Given the description of an element on the screen output the (x, y) to click on. 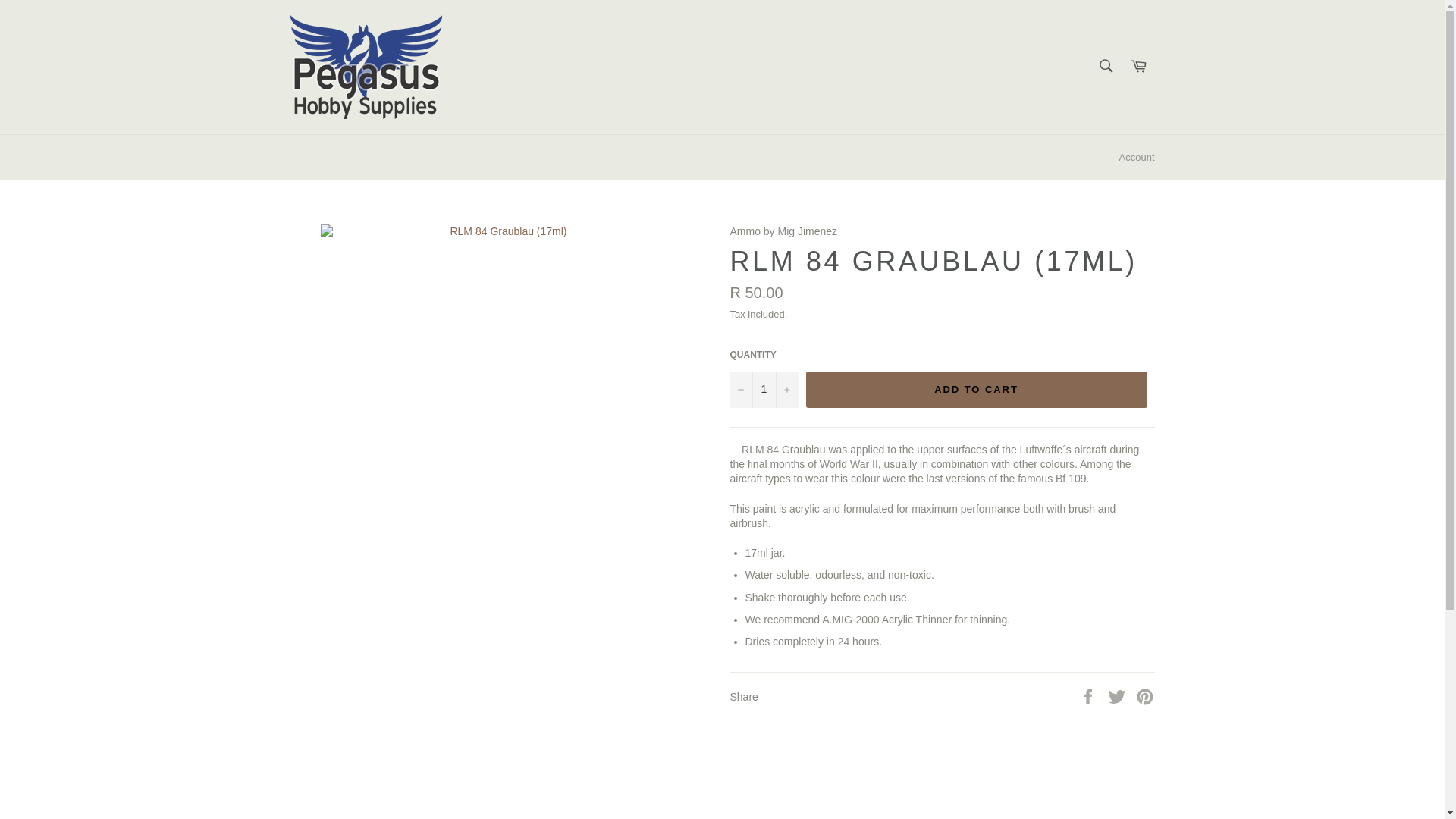
Pin on Pinterest (1144, 695)
Tweet on Twitter (1118, 695)
Search (1104, 65)
1 (763, 389)
ADD TO CART (976, 389)
Share on Facebook (1089, 695)
Share on Facebook (1089, 695)
Tweet on Twitter (1118, 695)
Cart (1138, 66)
Pin on Pinterest (1144, 695)
